Given the description of an element on the screen output the (x, y) to click on. 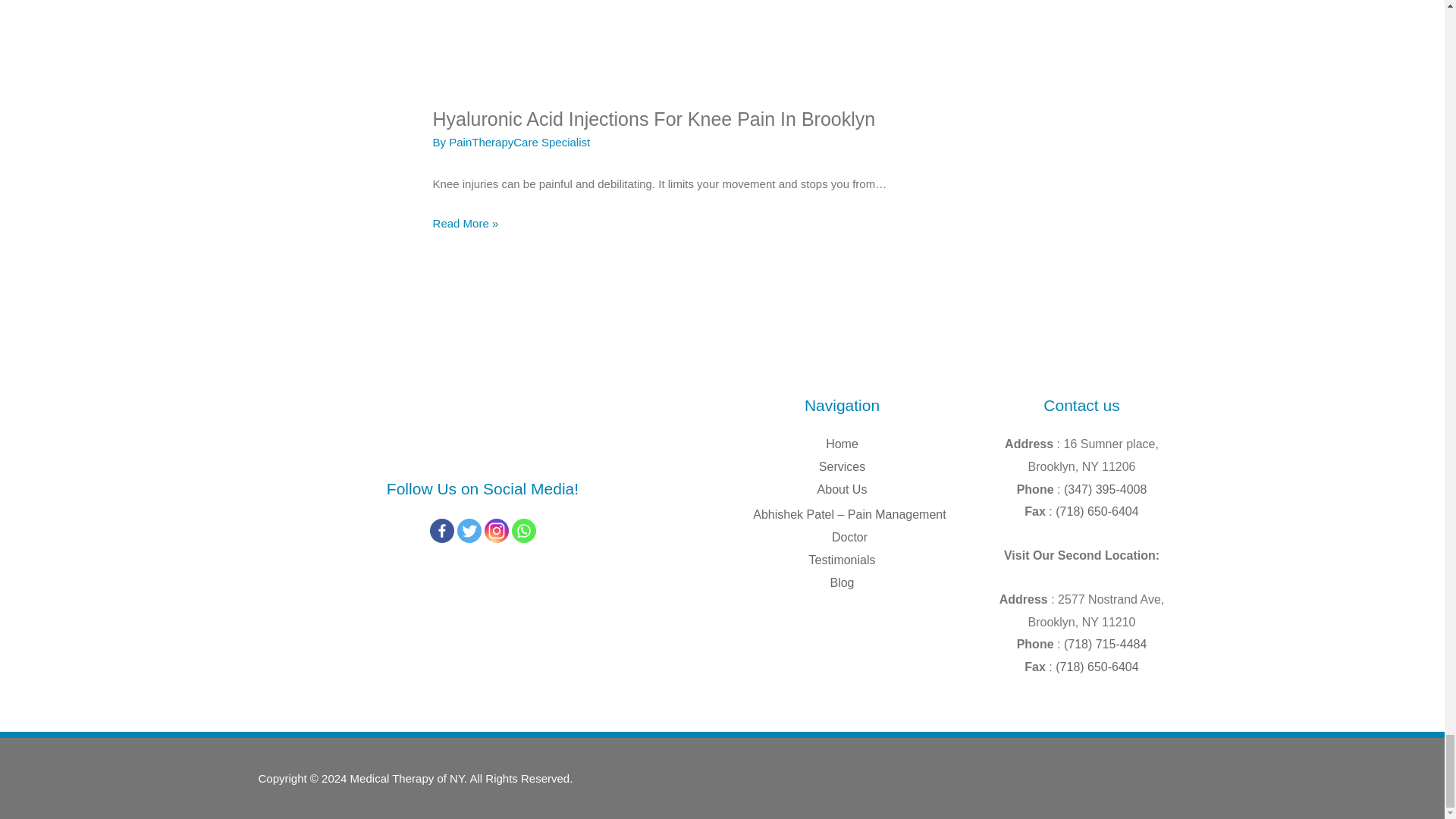
View all posts by PainTherapyCare Specialist (518, 141)
Twitter (468, 530)
Facebook (440, 530)
